Given the description of an element on the screen output the (x, y) to click on. 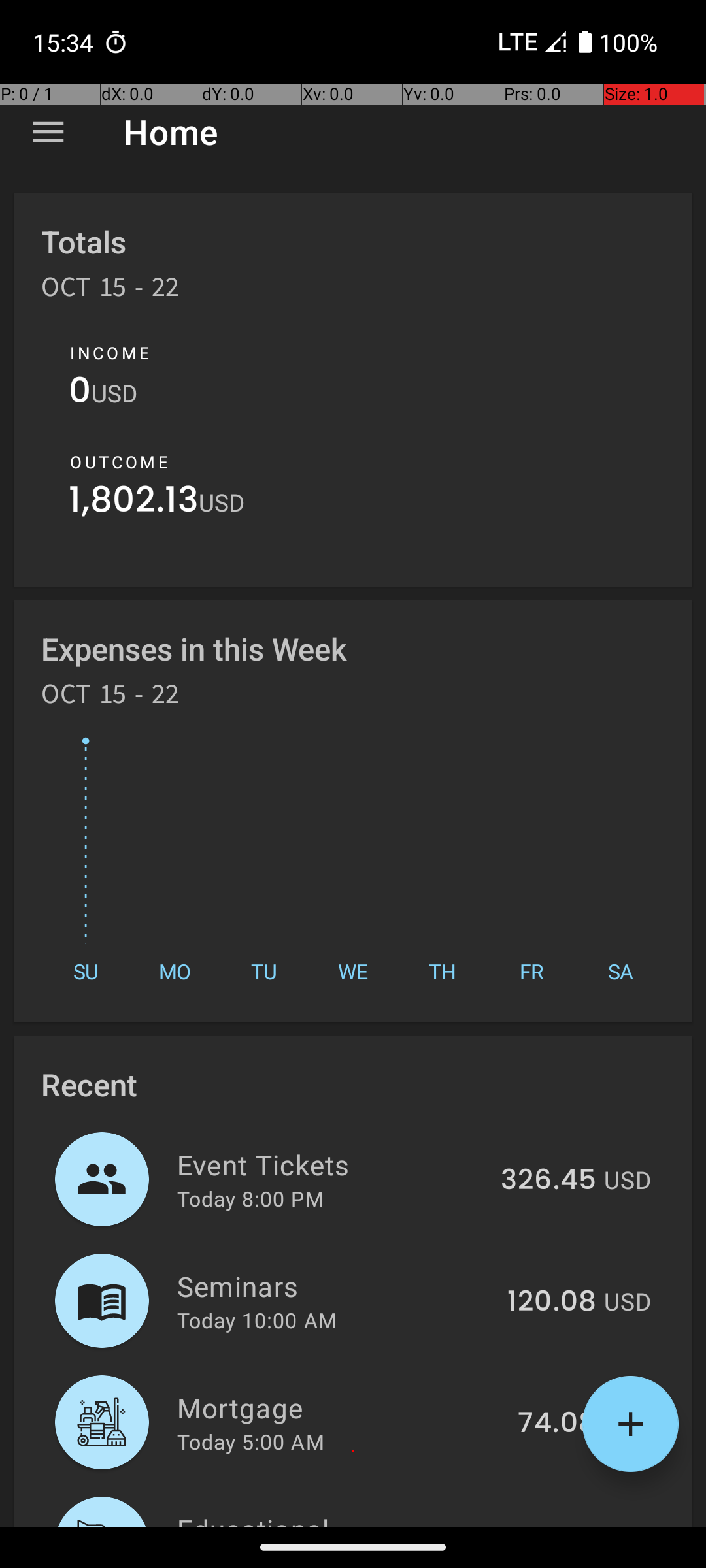
1,802.13 Element type: android.widget.TextView (133, 502)
326.45 Element type: android.widget.TextView (548, 1180)
Seminars Element type: android.widget.TextView (334, 1285)
Today 10:00 AM Element type: android.widget.TextView (256, 1320)
120.08 Element type: android.widget.TextView (551, 1301)
Today 5:00 AM Element type: android.widget.TextView (250, 1441)
74.08 Element type: android.widget.TextView (556, 1423)
Educational Element type: android.widget.TextView (334, 1518)
480.13 Element type: android.widget.TextView (550, 1524)
